Given the description of an element on the screen output the (x, y) to click on. 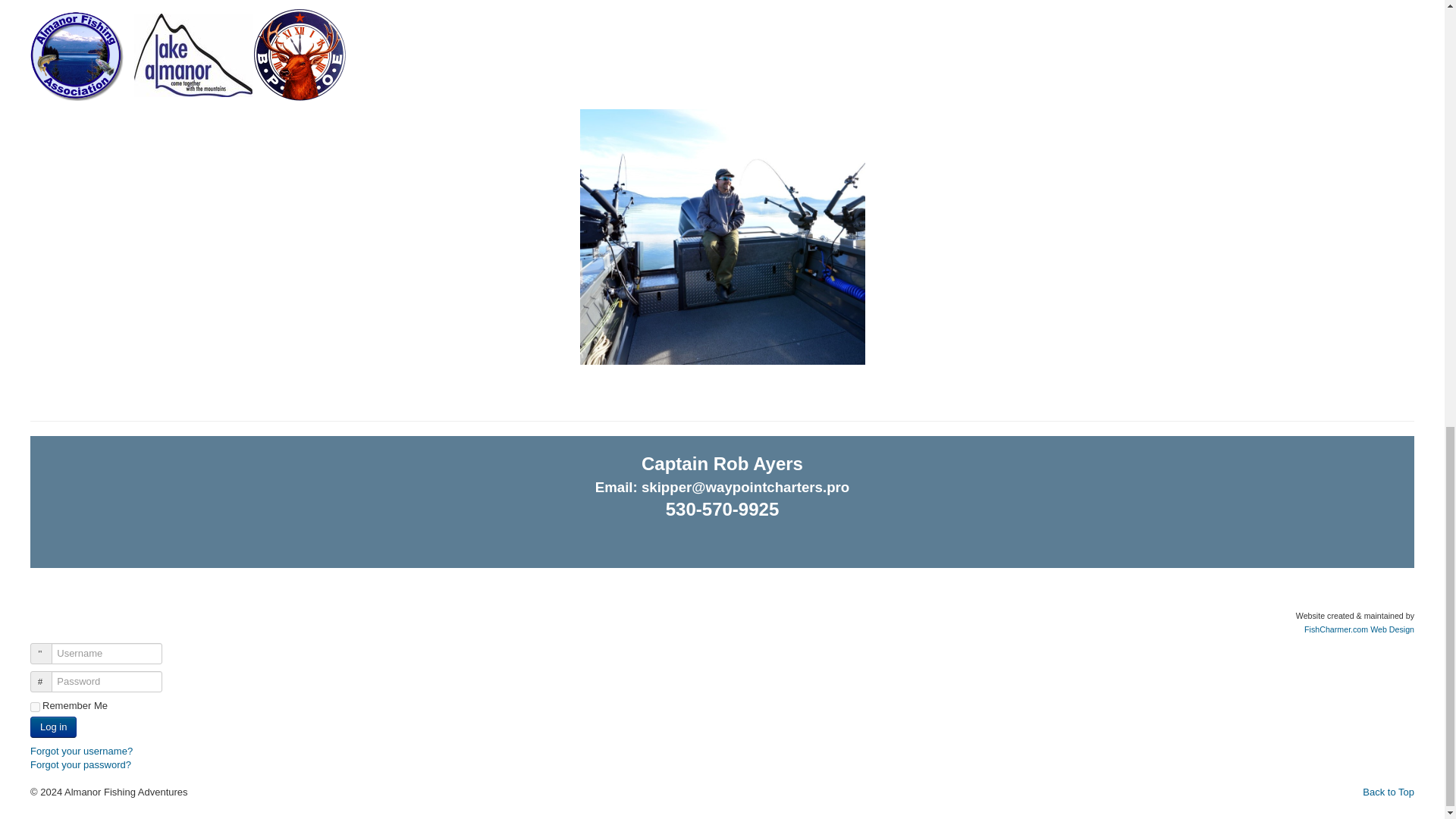
Back to Top (1387, 791)
Forgot your password? (80, 764)
Log in (53, 726)
FishCharmer.com Web Design (1358, 628)
Forgot your username? (81, 750)
yes (35, 706)
